Given the description of an element on the screen output the (x, y) to click on. 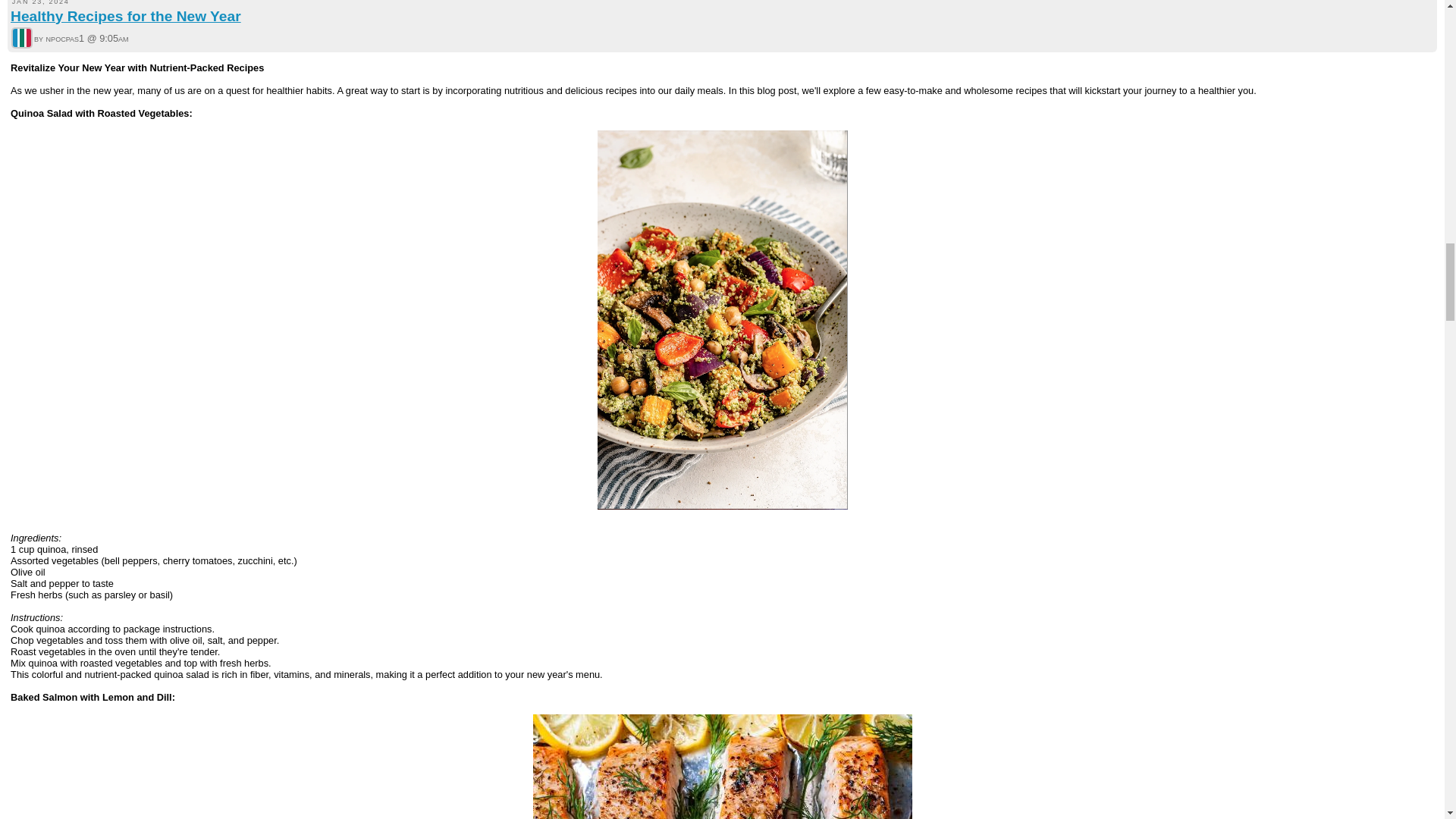
View profile of npocpas1 (21, 39)
npocpas1 (21, 37)
